Given the description of an element on the screen output the (x, y) to click on. 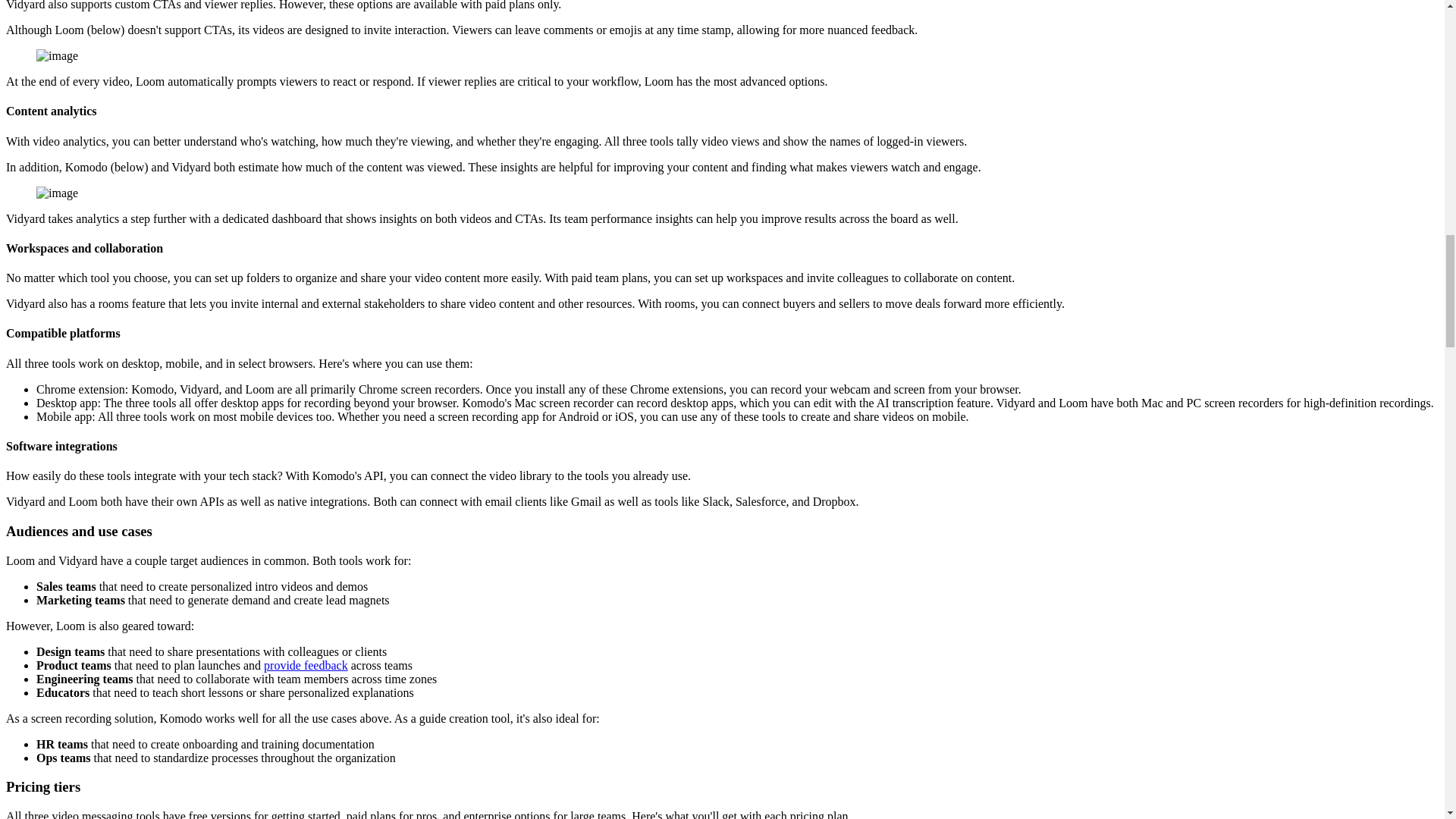
provide feedback (305, 665)
